Given the description of an element on the screen output the (x, y) to click on. 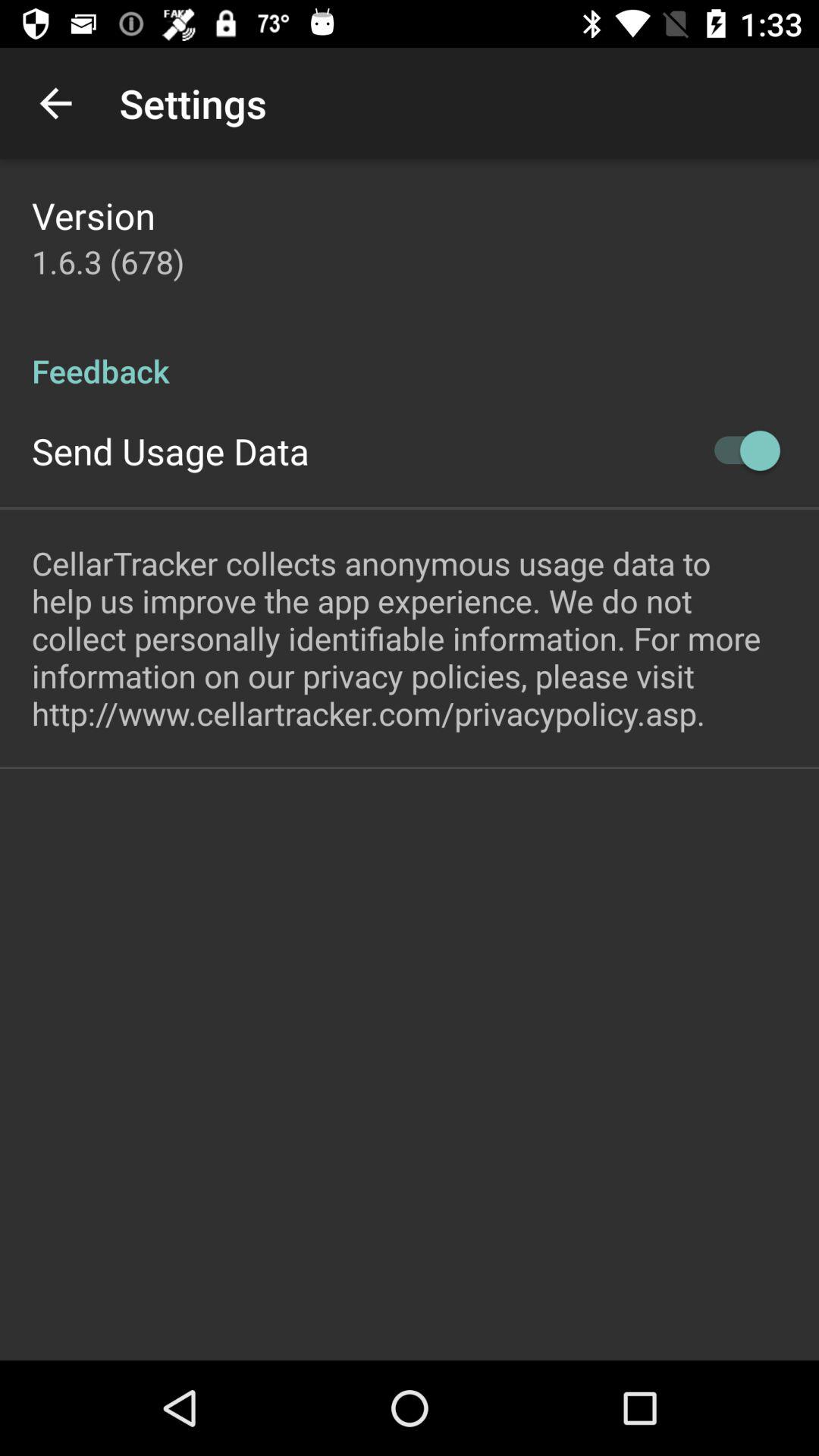
tap version app (93, 215)
